Given the description of an element on the screen output the (x, y) to click on. 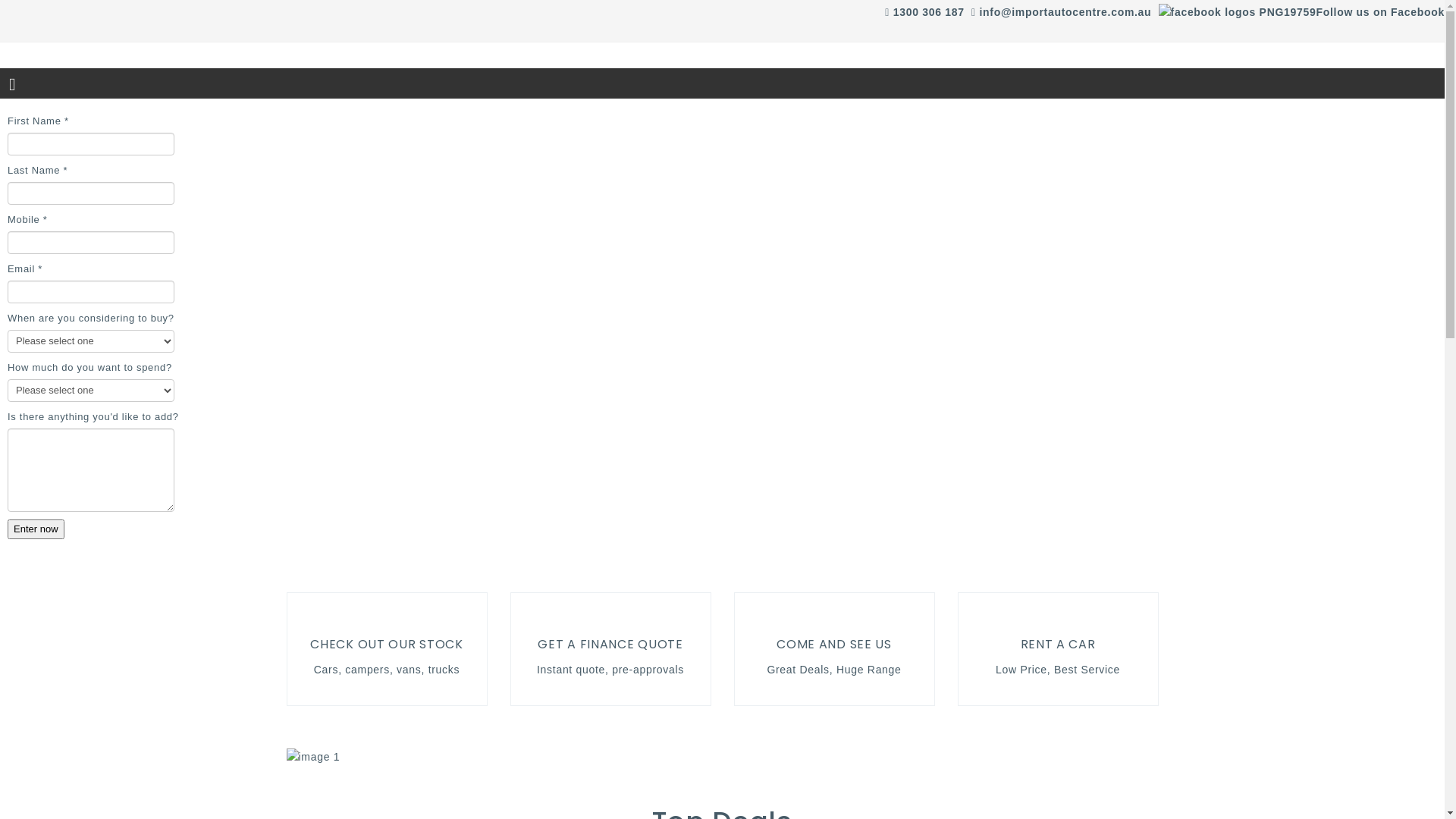
RENT A CAR Element type: text (1057, 643)
image 1 Element type: hover (313, 756)
CHECK OUT OUR STOCK Element type: text (386, 643)
info@importautocentre.com.au Element type: text (1065, 12)
GET A FINANCE QUOTE Element type: text (609, 643)
COME AND SEE US Element type: text (833, 643)
1300 306 187 Element type: text (928, 12)
Follow us on Facebook Element type: text (1380, 12)
Enter now Element type: text (35, 529)
